Given the description of an element on the screen output the (x, y) to click on. 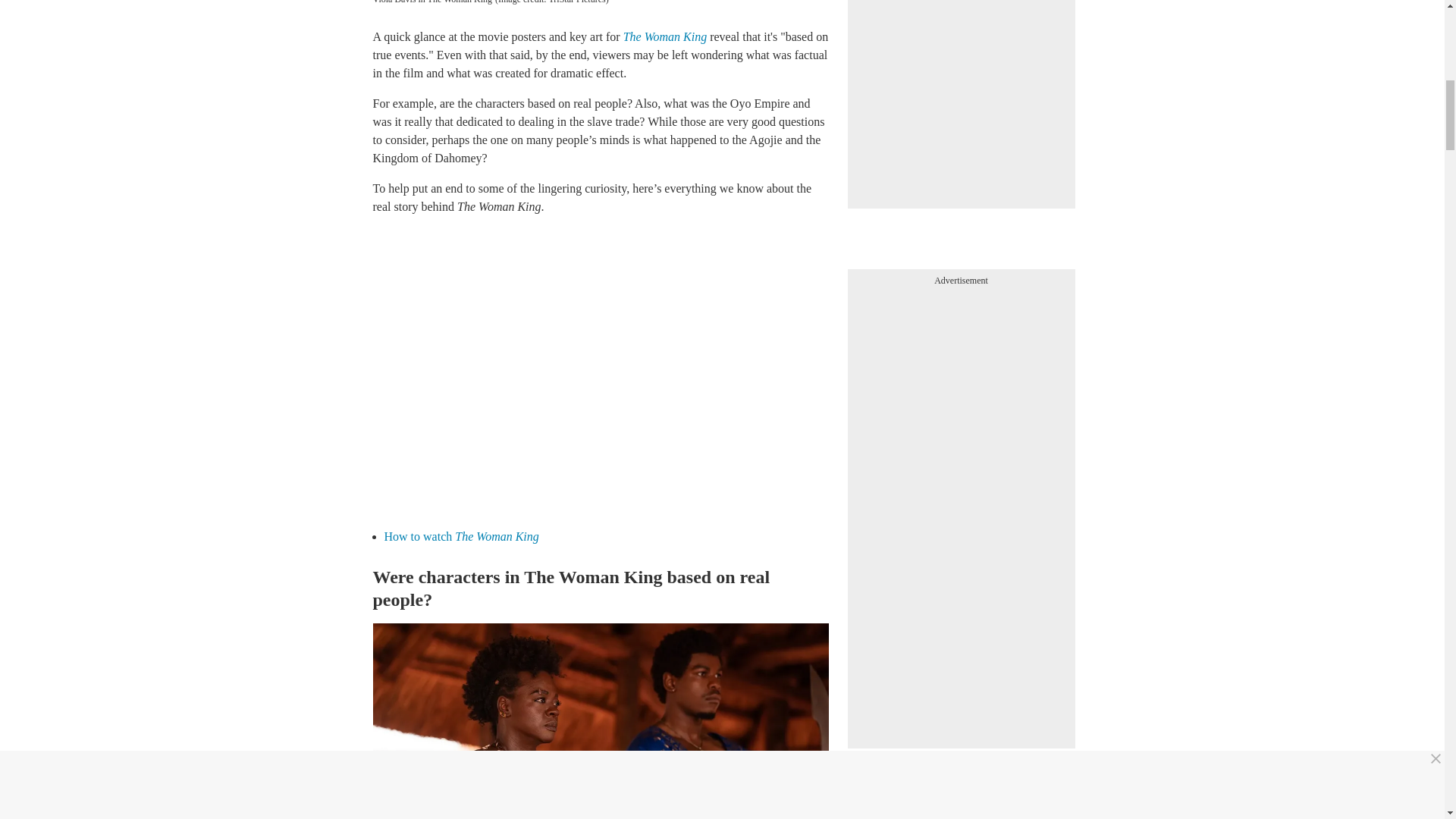
The Woman King (665, 36)
